Given the description of an element on the screen output the (x, y) to click on. 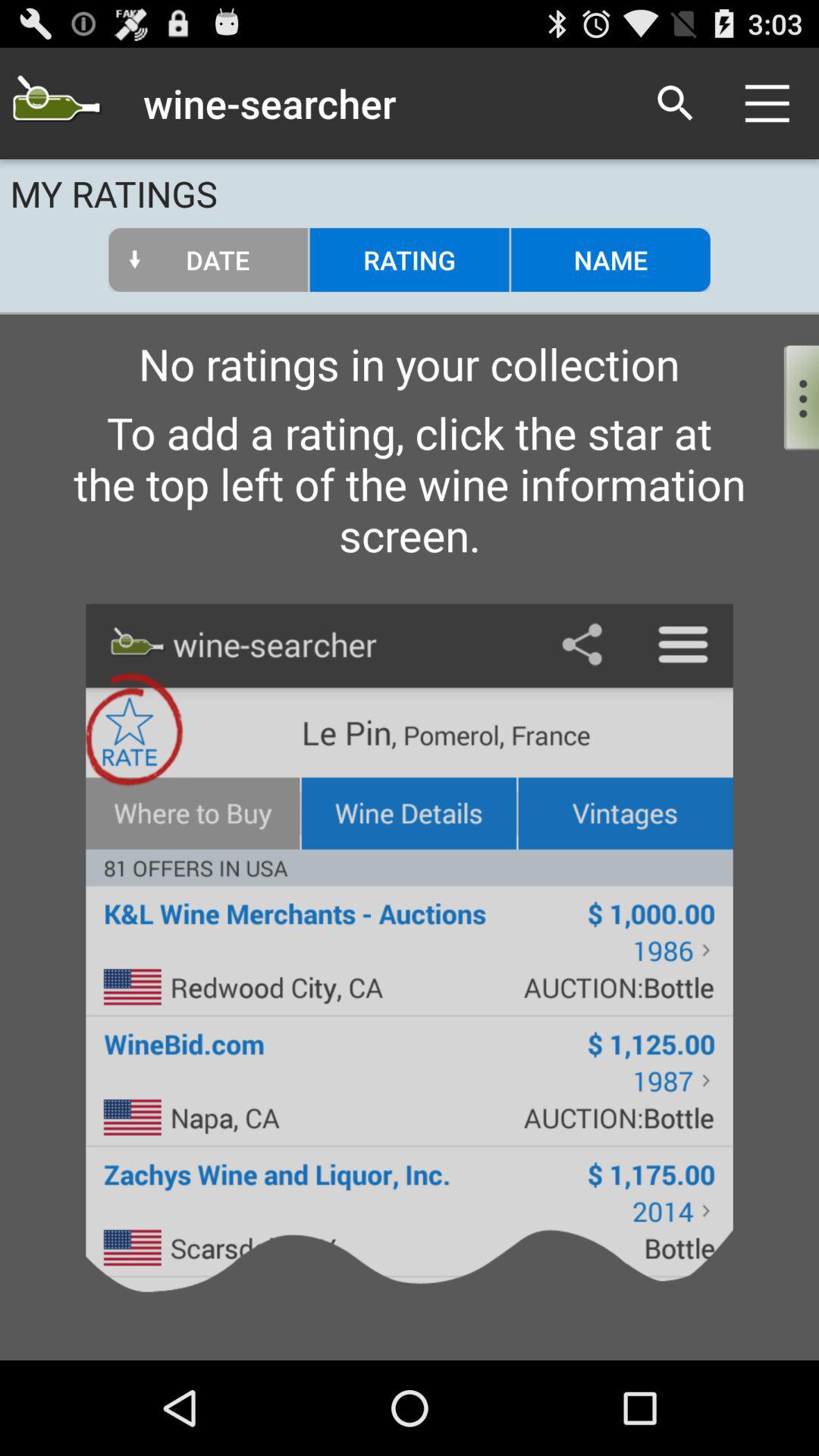
go back home (55, 103)
